Given the description of an element on the screen output the (x, y) to click on. 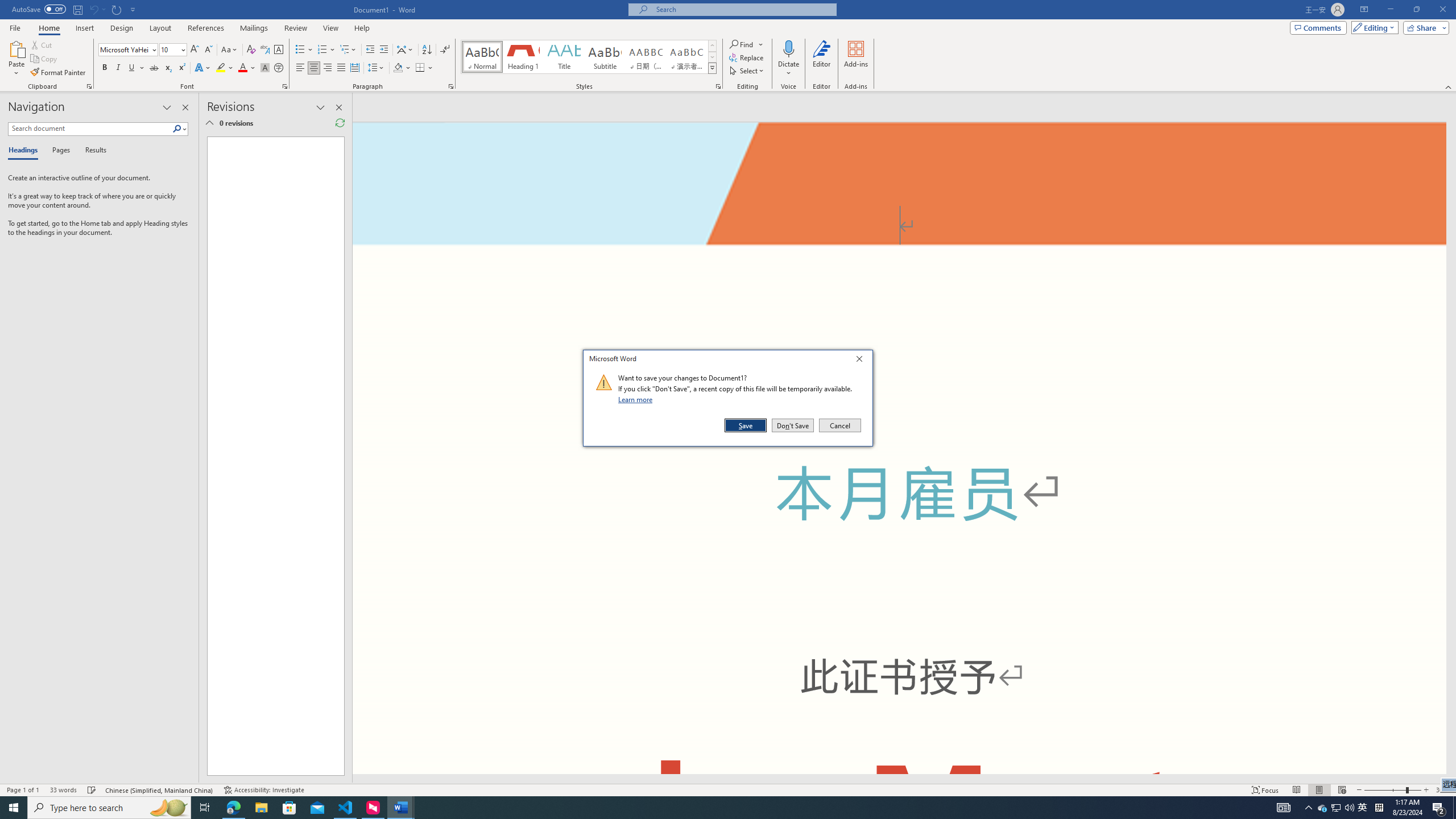
Grow Font (193, 49)
Shading (402, 67)
Show/Hide Editing Marks (1322, 807)
Shading RGB(0, 0, 0) (444, 49)
Running applications (397, 67)
Row Down (700, 807)
